Given the description of an element on the screen output the (x, y) to click on. 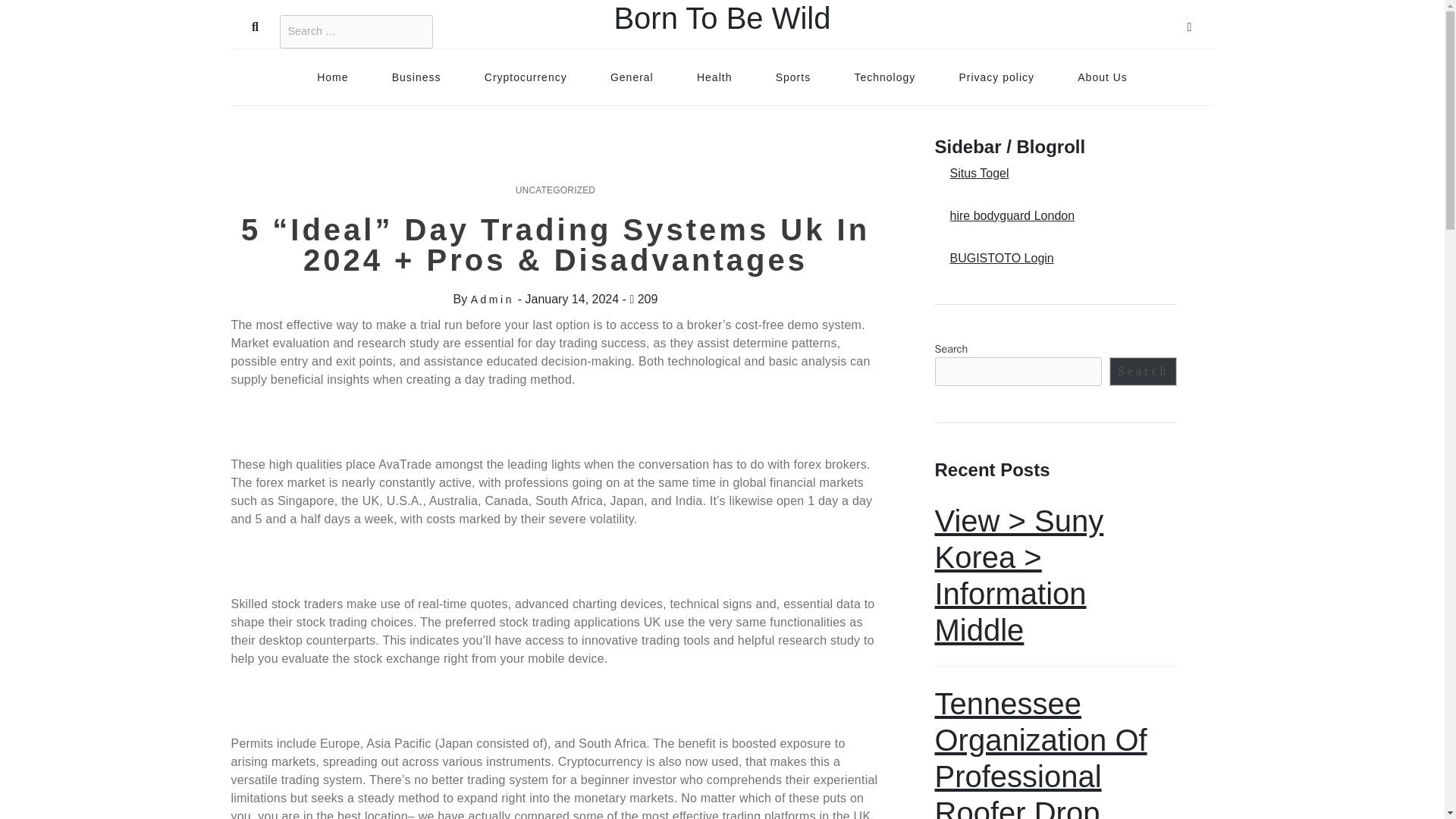
Home (331, 77)
Cryptocurrency (525, 77)
Sports (792, 77)
Born To Be Wild (720, 18)
Technology (884, 77)
Admin (491, 299)
Search (1143, 371)
January 14, 2024 (571, 298)
Privacy policy (996, 77)
Search (254, 24)
